Given the description of an element on the screen output the (x, y) to click on. 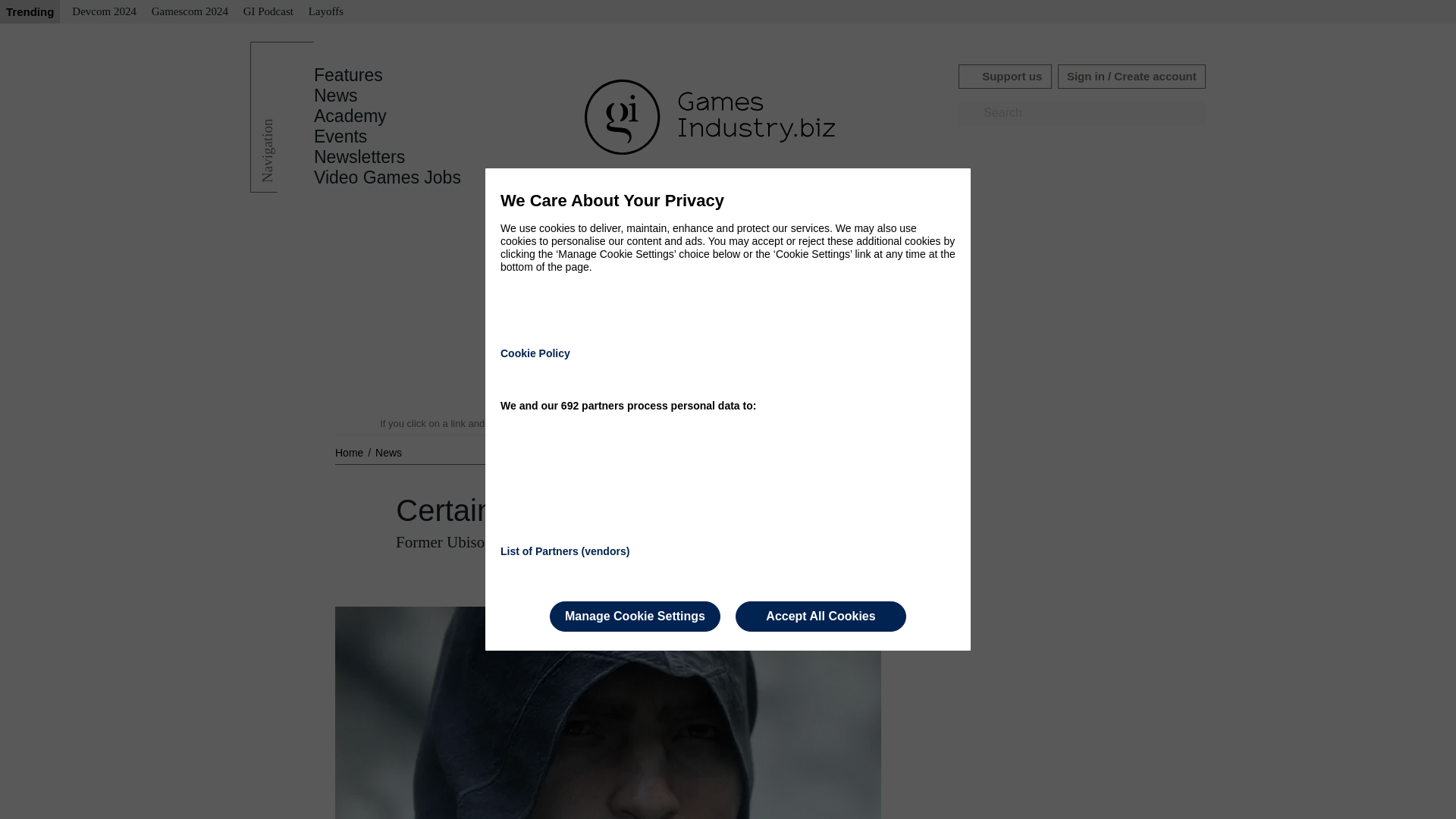
Devcom 2024 (103, 11)
Video Games Jobs (387, 177)
Home (350, 452)
Home (350, 452)
Gamescom 2024 (189, 11)
Layoffs (325, 11)
Read our editorial policy (781, 423)
Events (340, 136)
News (336, 95)
Events (340, 136)
